Given the description of an element on the screen output the (x, y) to click on. 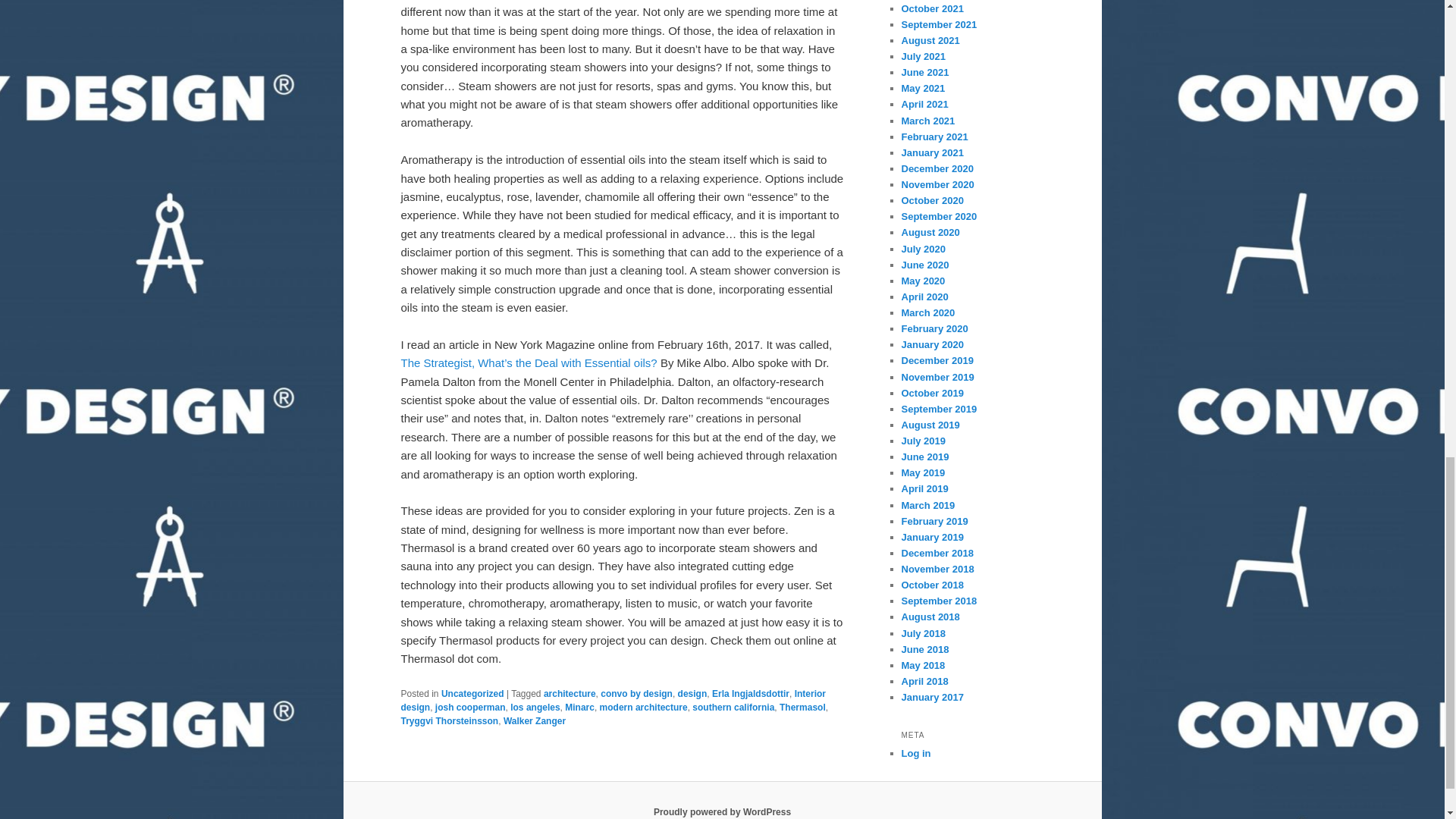
josh cooperman (470, 706)
los angeles (535, 706)
Semantic Personal Publishing Platform (721, 811)
Tryggvi Thorsteinsson (448, 720)
Minarc (579, 706)
Uncategorized (472, 693)
Erla Ingjaldsdottir (750, 693)
southern california (733, 706)
modern architecture (643, 706)
design (692, 693)
